Given the description of an element on the screen output the (x, y) to click on. 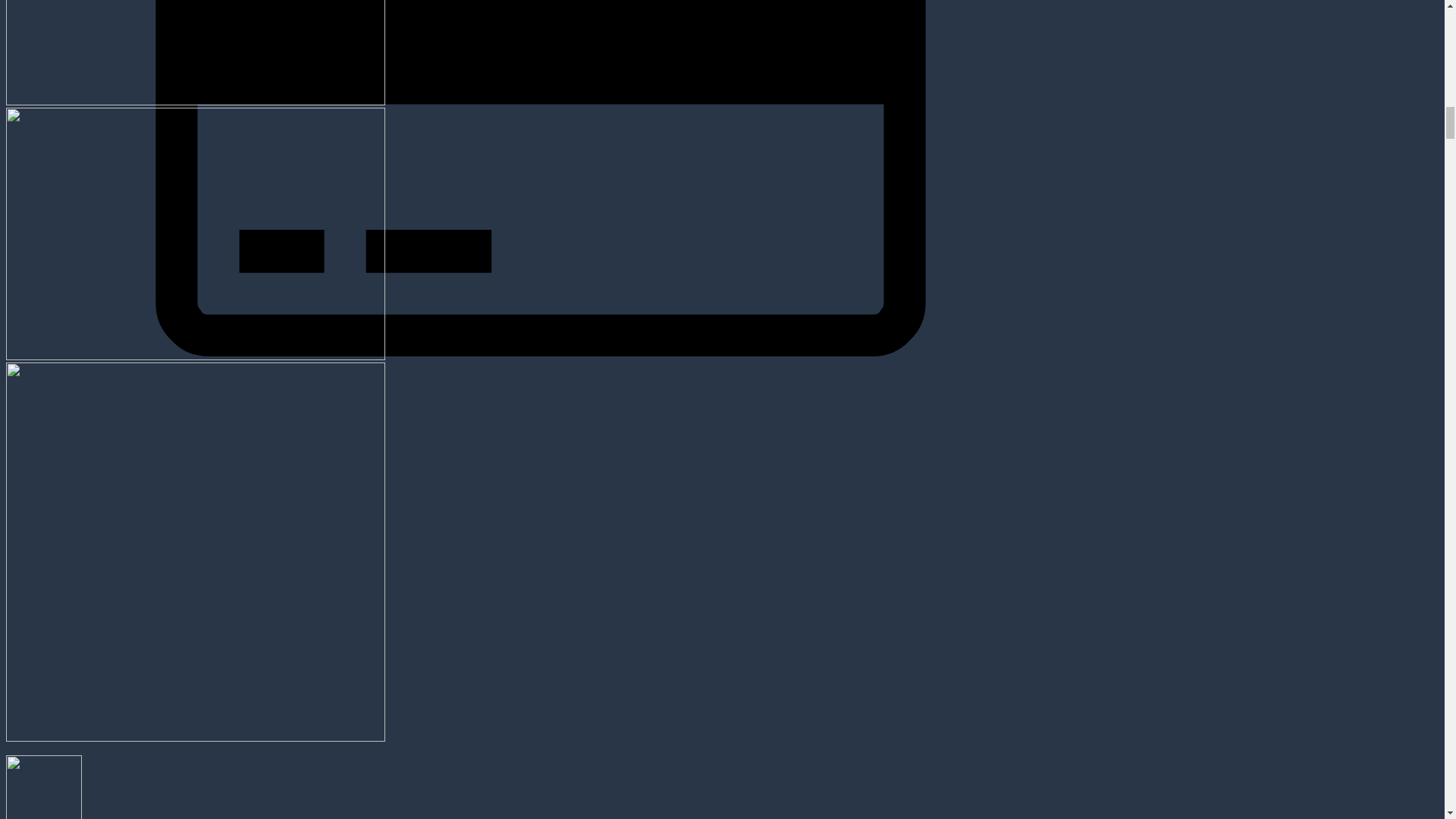
Faber-Castell-Kindergarten-Grip-Crayons-Pack-of-6-2-1 (195, 52)
